Given the description of an element on the screen output the (x, y) to click on. 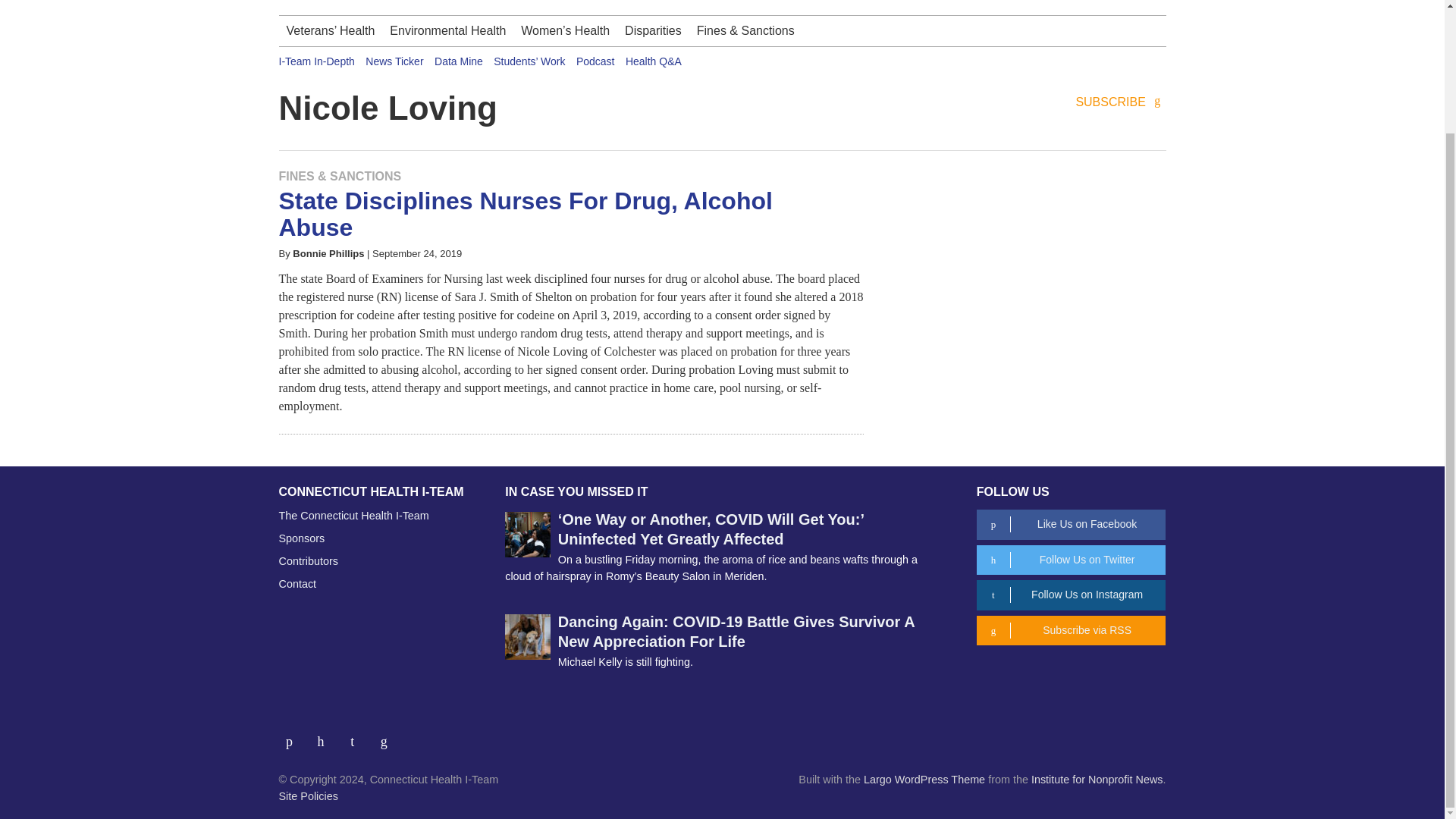
Data Mine (458, 61)
Disparities (652, 30)
I-Team In-Depth (317, 61)
More from Bonnie Phillips (328, 253)
Link to Twitter Page (326, 735)
Link to RSS Feed (384, 735)
Link to Instagram Page (358, 735)
Link to Facebook Profile (295, 735)
SUBSCRIBE (1120, 102)
News Ticker (394, 61)
Environmental Health (447, 30)
Podcast (595, 61)
